Given the description of an element on the screen output the (x, y) to click on. 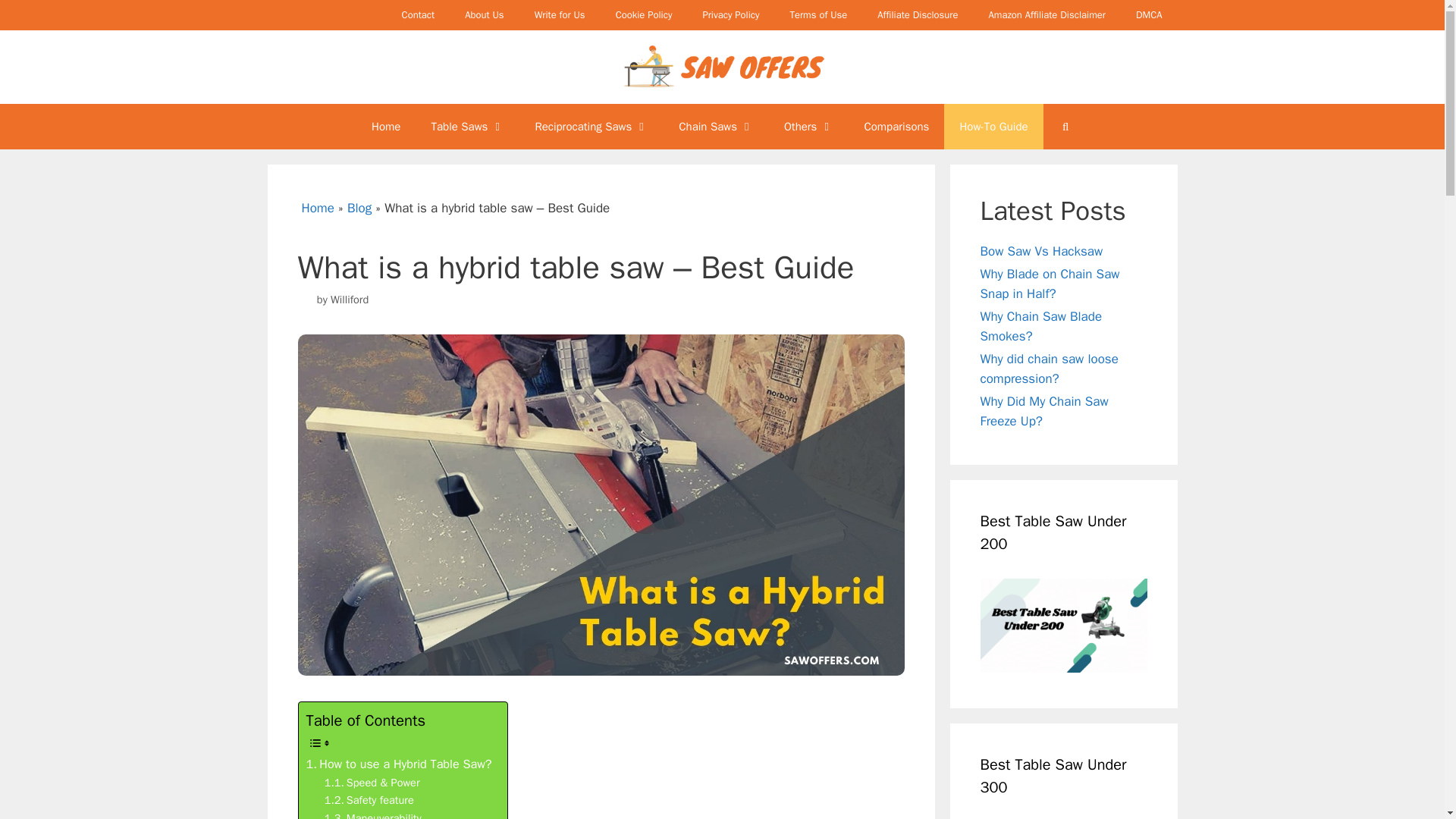
Cookie Policy (643, 15)
DMCA (1149, 15)
Write for Us (559, 15)
Others (808, 126)
Safety feature (368, 800)
Privacy Policy (730, 15)
Terms of Use (817, 15)
Affiliate Disclosure (916, 15)
Chain Saws (715, 126)
Reciprocating Saws (591, 126)
Contact (418, 15)
Home (385, 126)
Maneuverability (373, 814)
About Us (483, 15)
View all posts by Williford (349, 299)
